Given the description of an element on the screen output the (x, y) to click on. 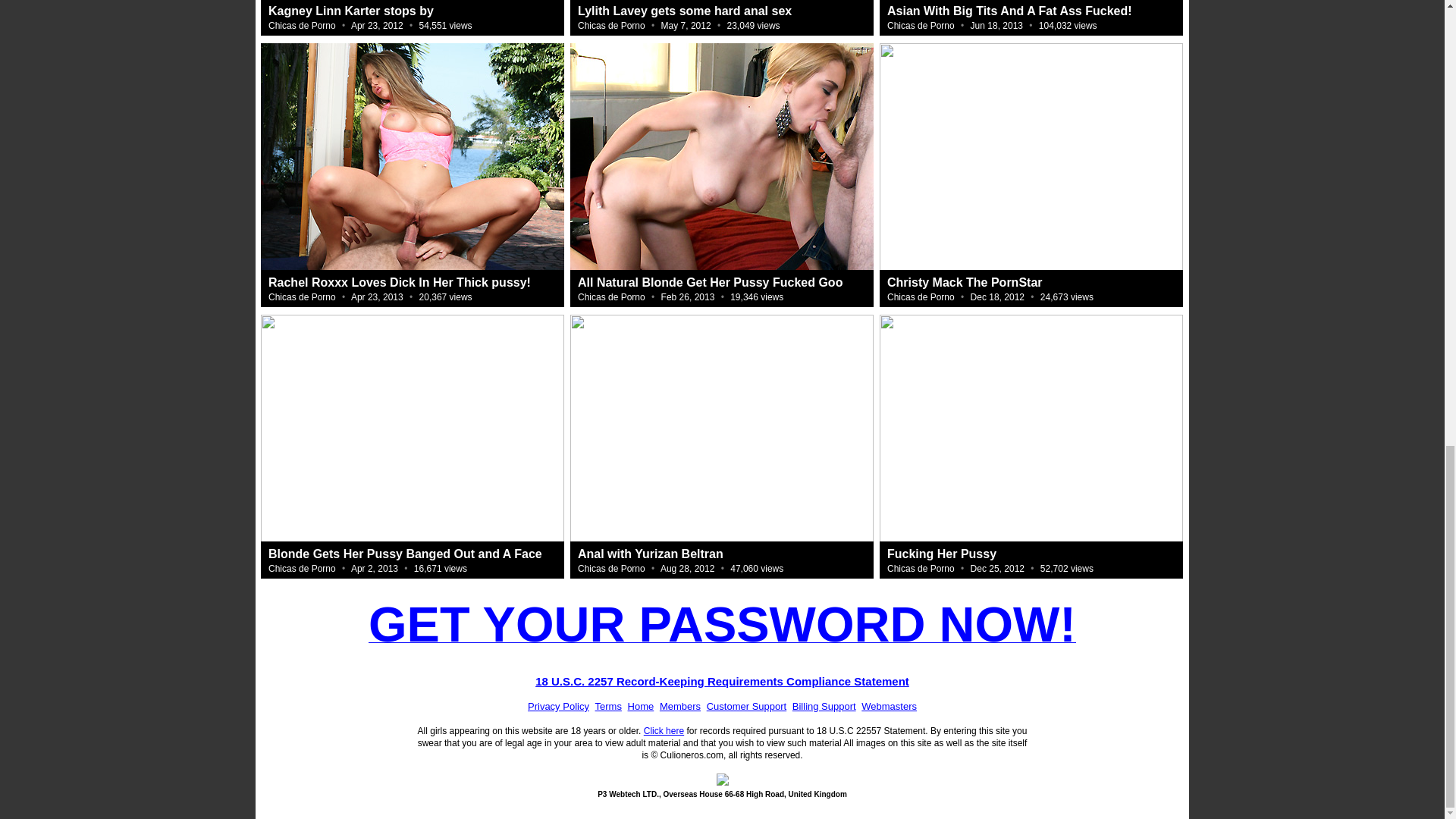
GET YOUR PASSWORD NOW! (721, 620)
Privacy Policy (558, 706)
Members (679, 706)
Webmasters (889, 706)
Billing Support (824, 706)
Home (640, 706)
Click here (663, 730)
Customer Support (746, 706)
Terms (608, 706)
